Given the description of an element on the screen output the (x, y) to click on. 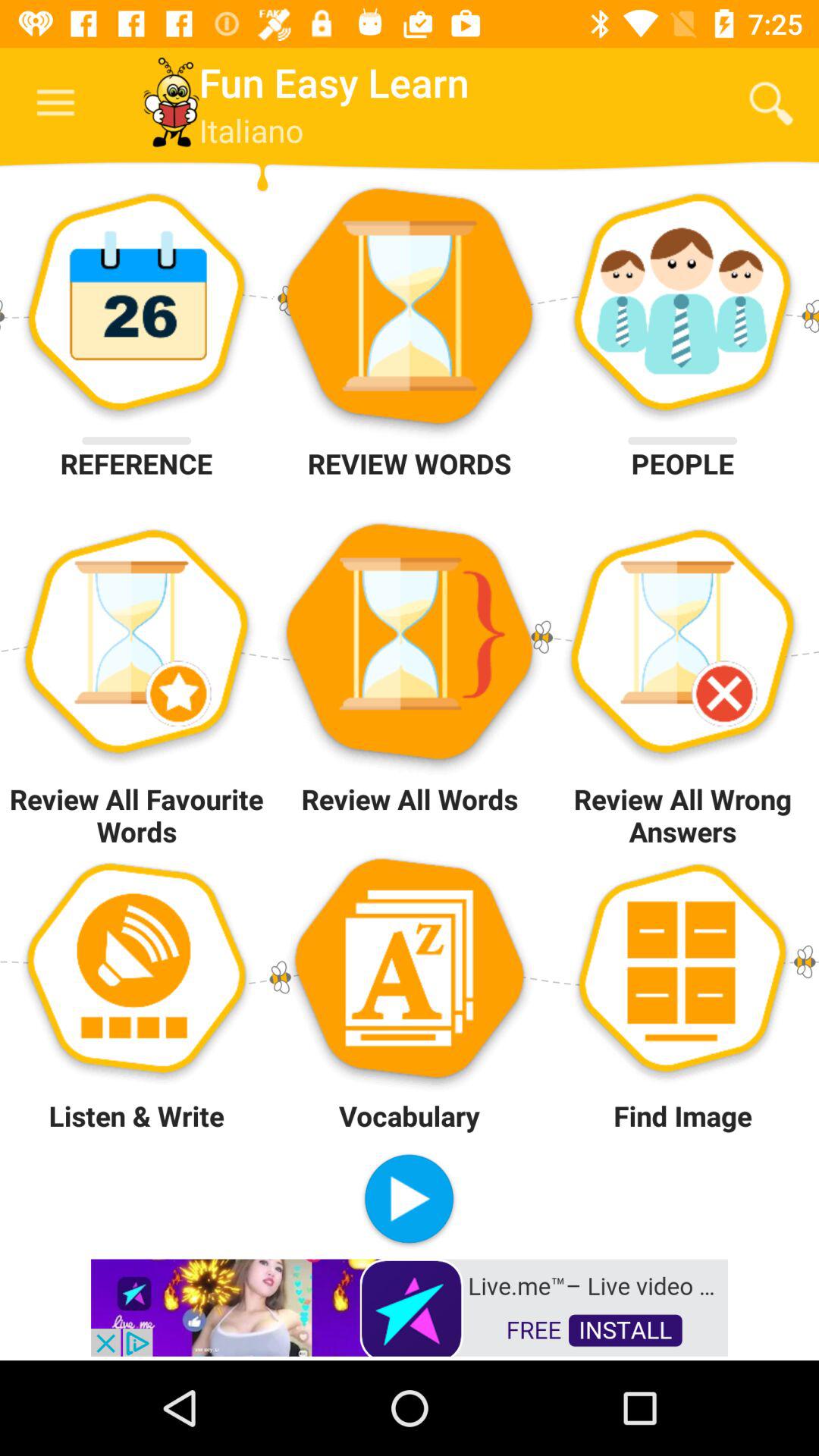
instal app (409, 1306)
